Given the description of an element on the screen output the (x, y) to click on. 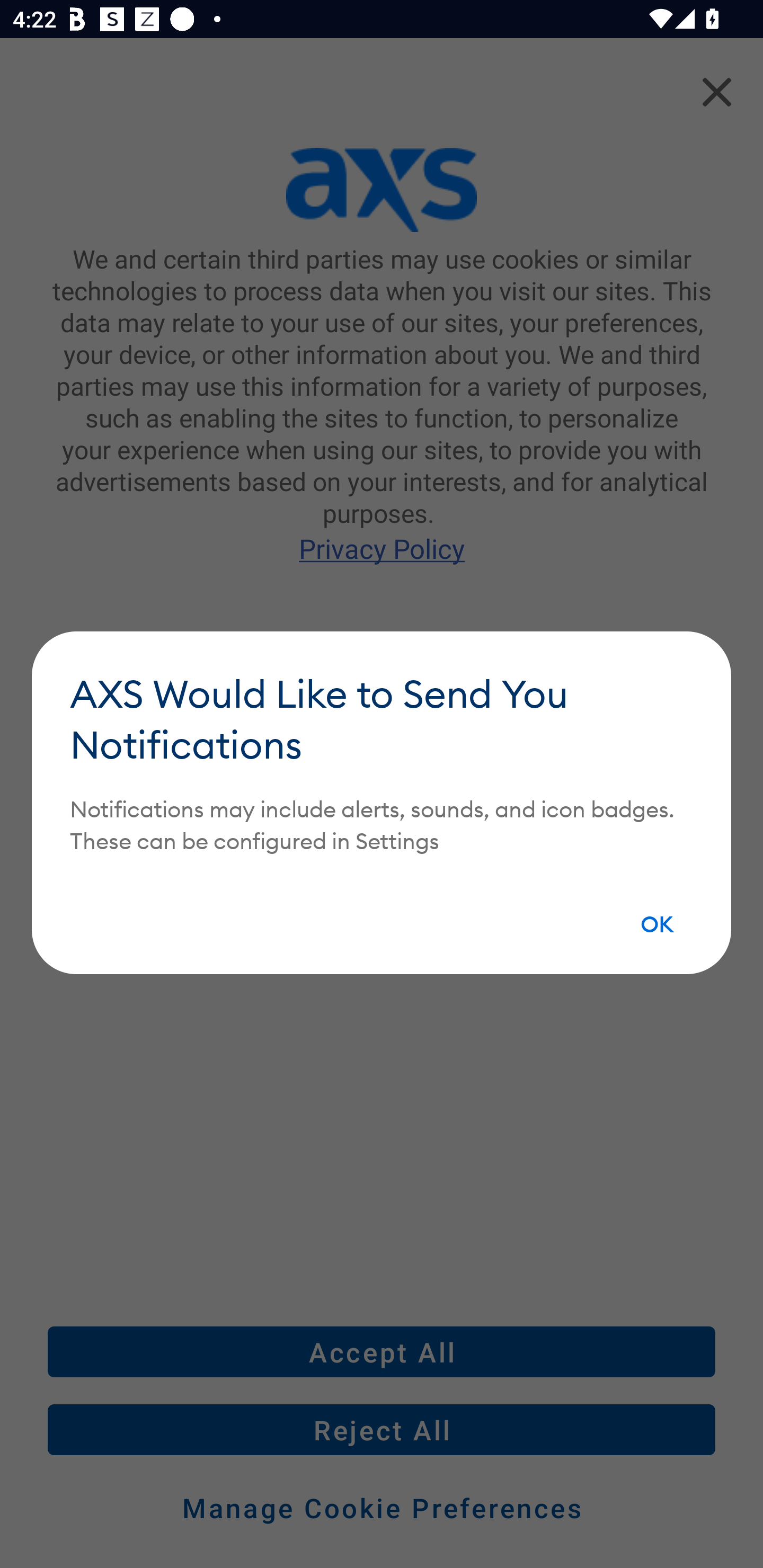
OK (657, 924)
